Given the description of an element on the screen output the (x, y) to click on. 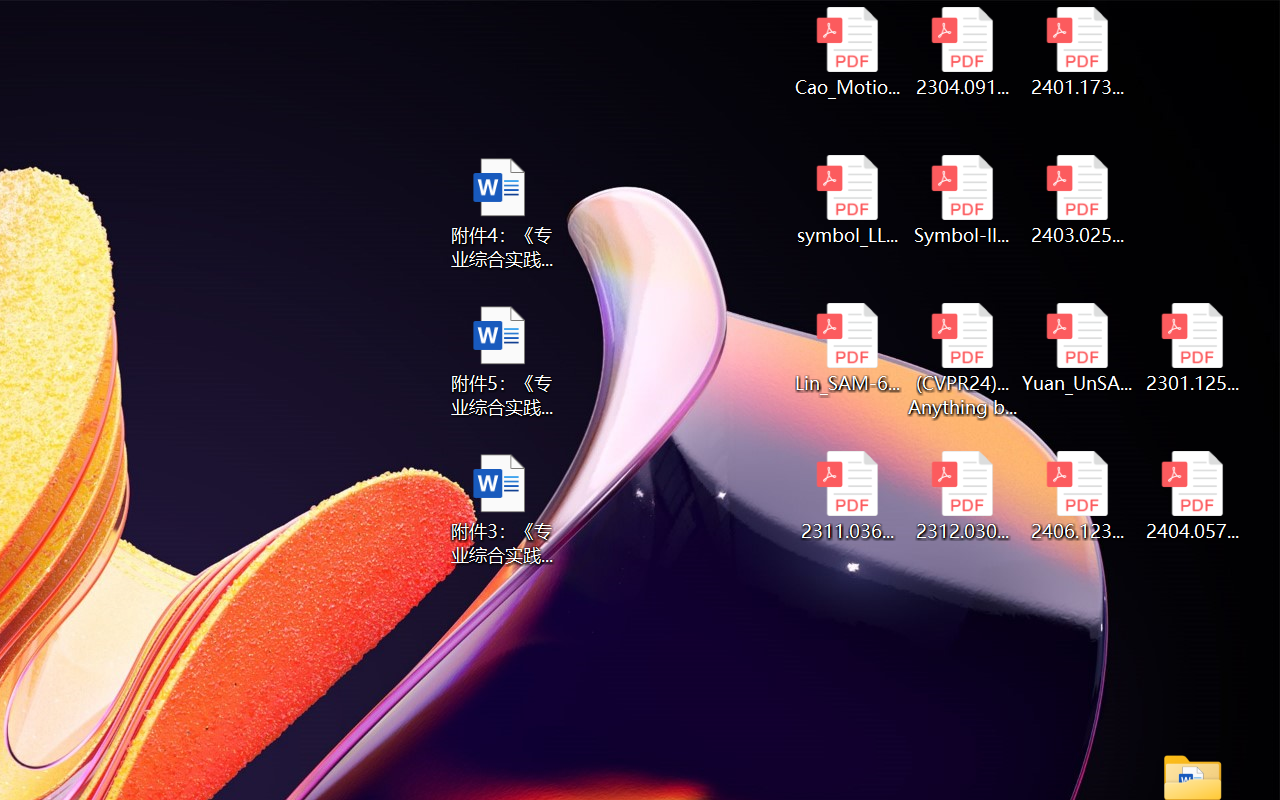
symbol_LLM.pdf (846, 200)
